Given the description of an element on the screen output the (x, y) to click on. 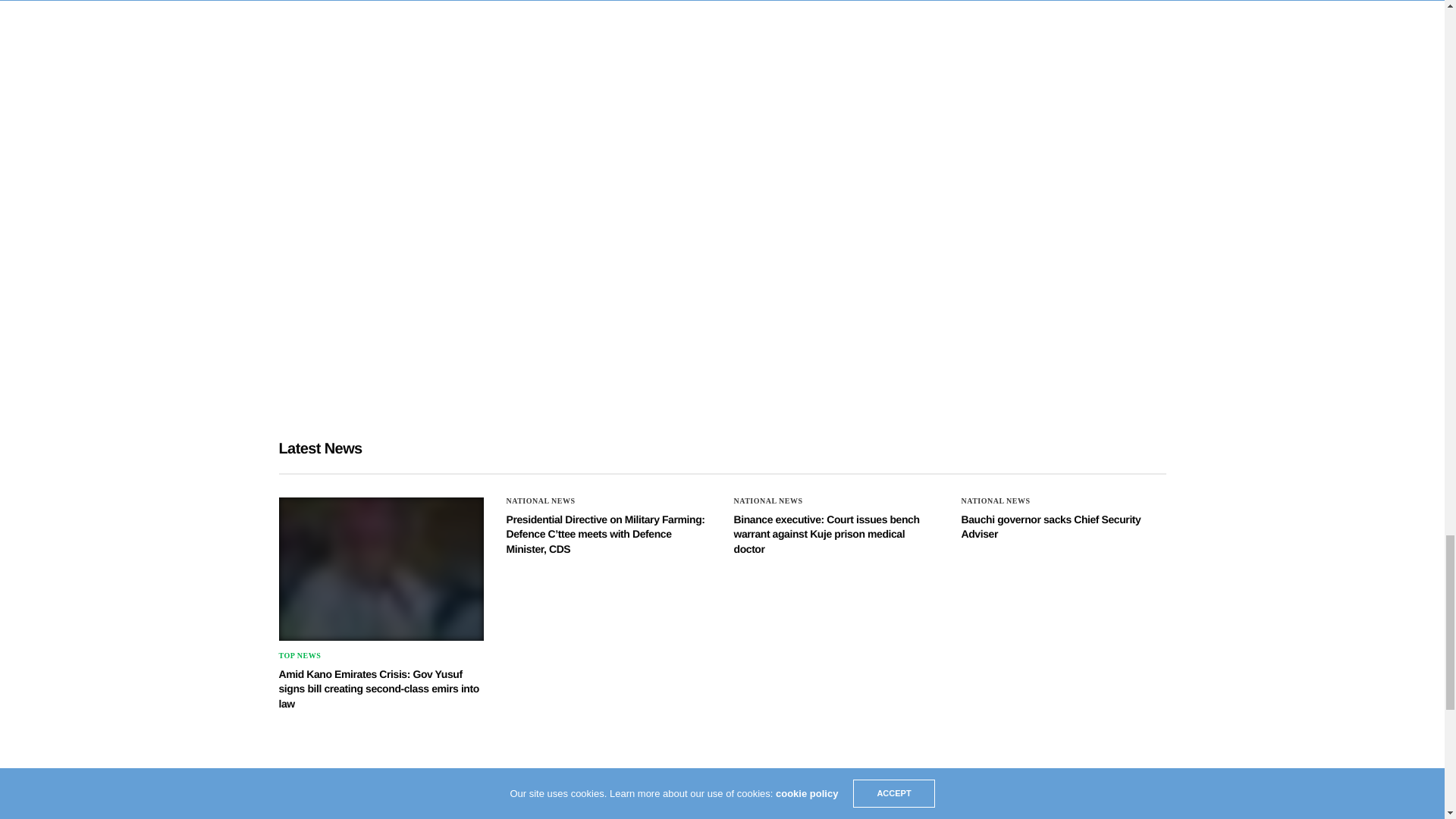
Top News (300, 655)
National News (540, 501)
Advertisement (571, 296)
National News (768, 501)
